Given the description of an element on the screen output the (x, y) to click on. 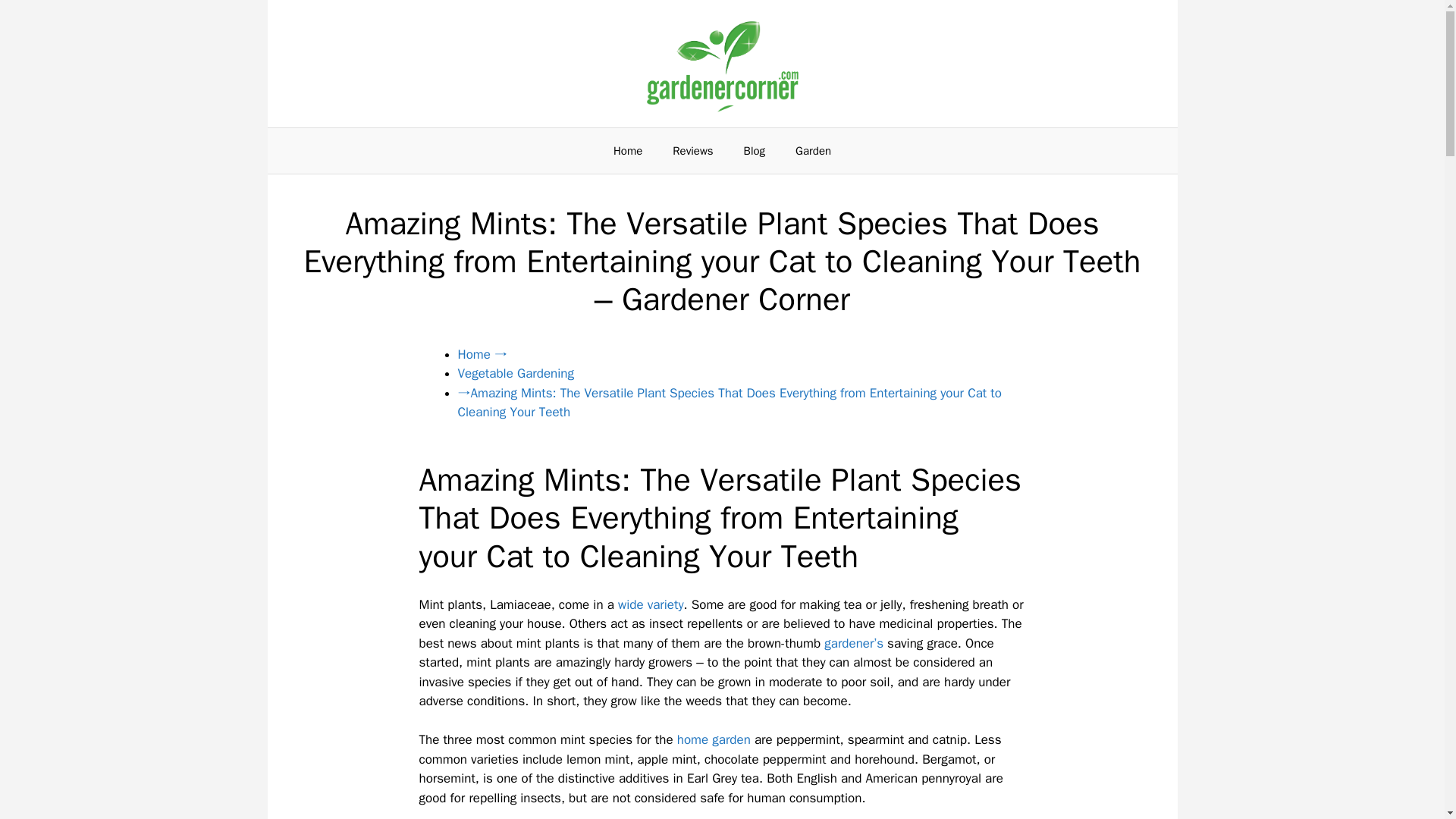
Reviews (693, 150)
Garden (812, 150)
Gardener Corner (721, 63)
Blog (754, 150)
Home (628, 150)
home garden (714, 739)
Gardener Corner (721, 62)
wide variety (650, 604)
Vegetable Gardening (515, 373)
